Given the description of an element on the screen output the (x, y) to click on. 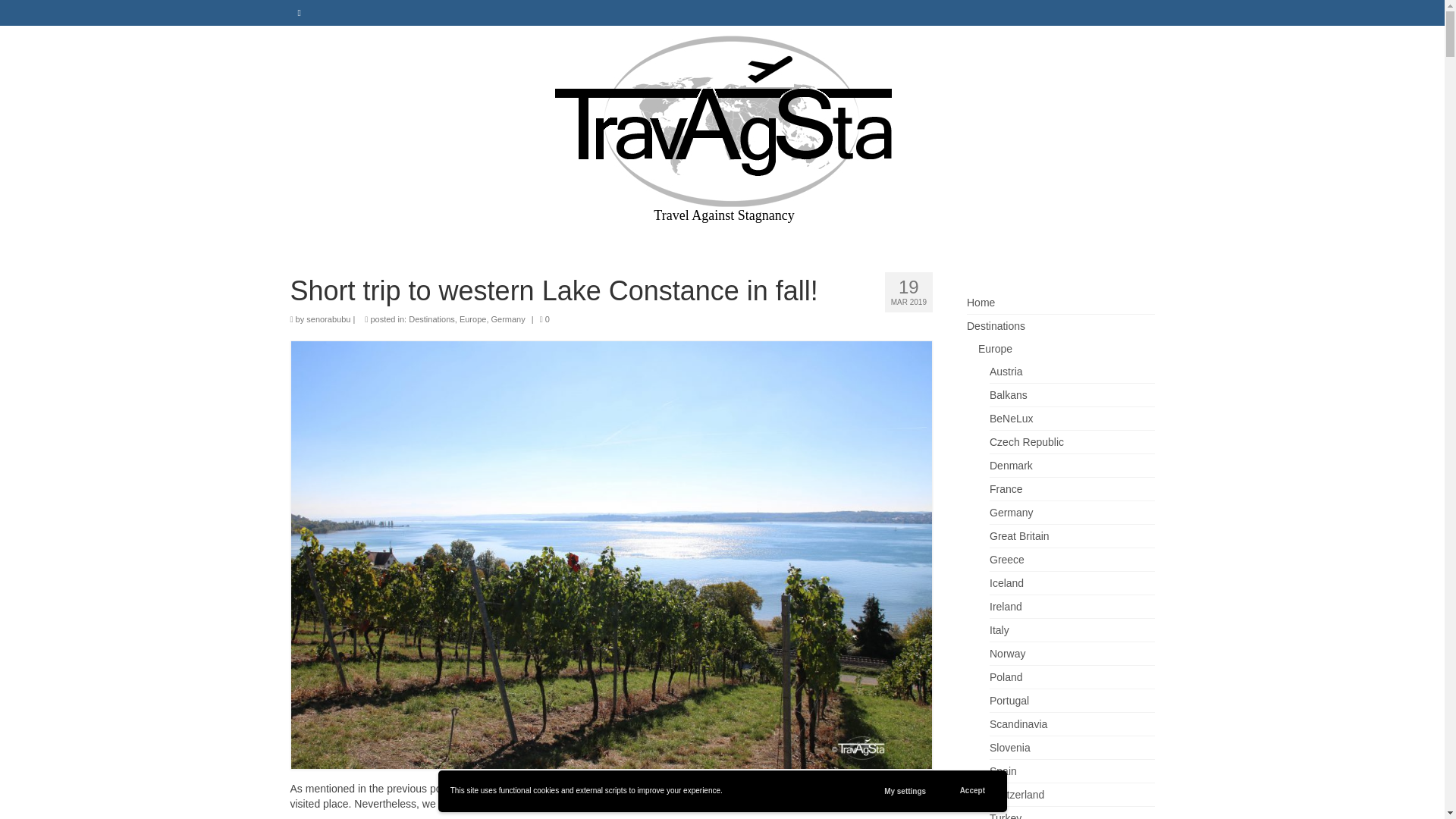
Germany (508, 318)
Accept (972, 790)
My settings (905, 790)
Destinations (431, 318)
Europe (473, 318)
senorabubu (327, 318)
Germany (702, 803)
